Given the description of an element on the screen output the (x, y) to click on. 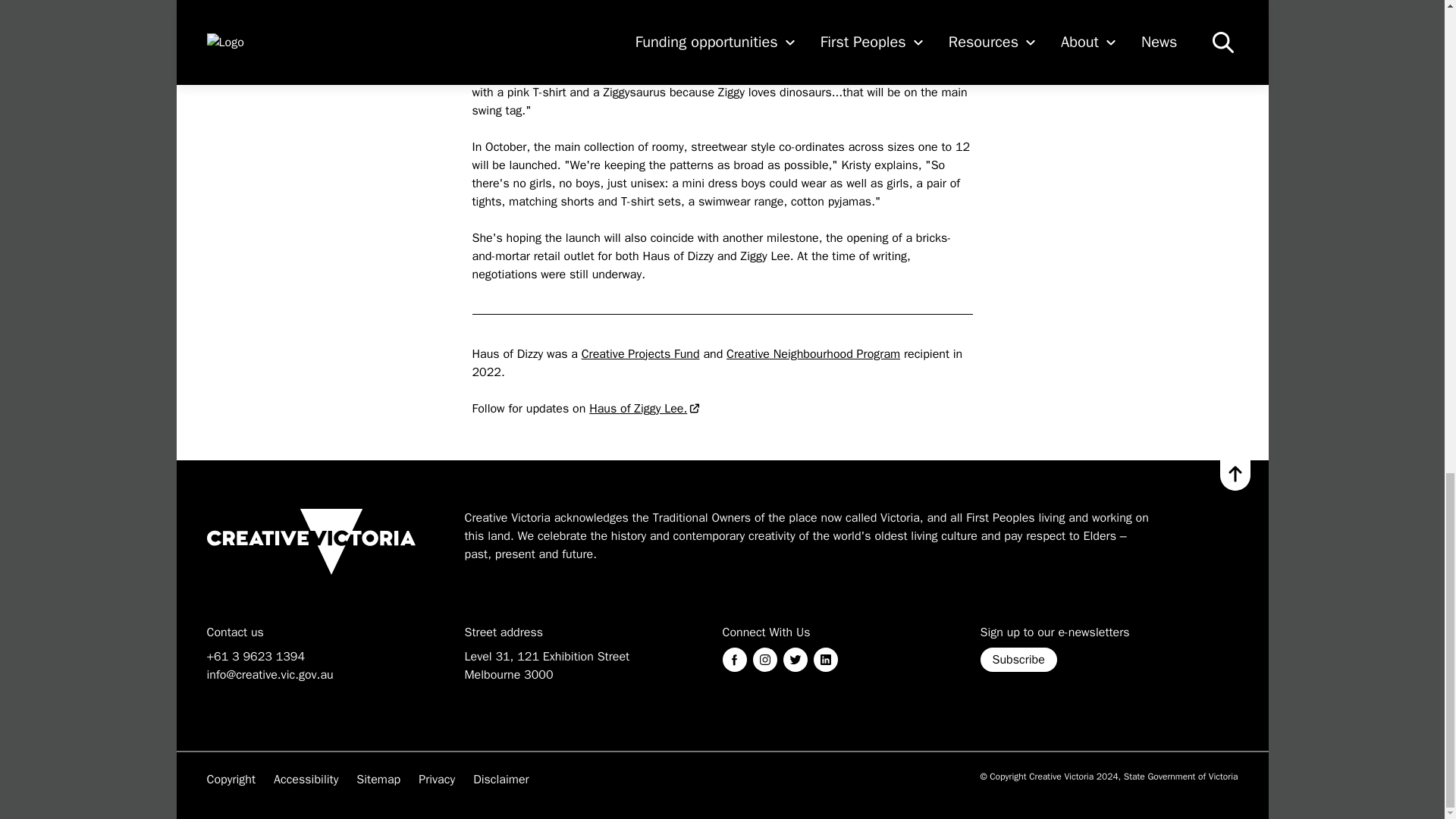
Haus of Ziggy Lee. (644, 408)
Go back to top of page (1234, 475)
Visit the Creative Victoria Facebook page (733, 658)
Visit the Creative Victoria LinkedIn page (824, 658)
Creative Neighbourhood Program (812, 353)
Subscribe (1018, 658)
Visit the Creative Victoria homepage (310, 541)
Disclaimer (500, 778)
Visit the Creative Victoria Instagram page (764, 658)
Privacy (436, 778)
Visit the Creative Victoria Twitter page (794, 658)
Copyright (231, 778)
Accessibility (305, 778)
Sitemap (378, 778)
Creative Projects Fund (640, 353)
